Given the description of an element on the screen output the (x, y) to click on. 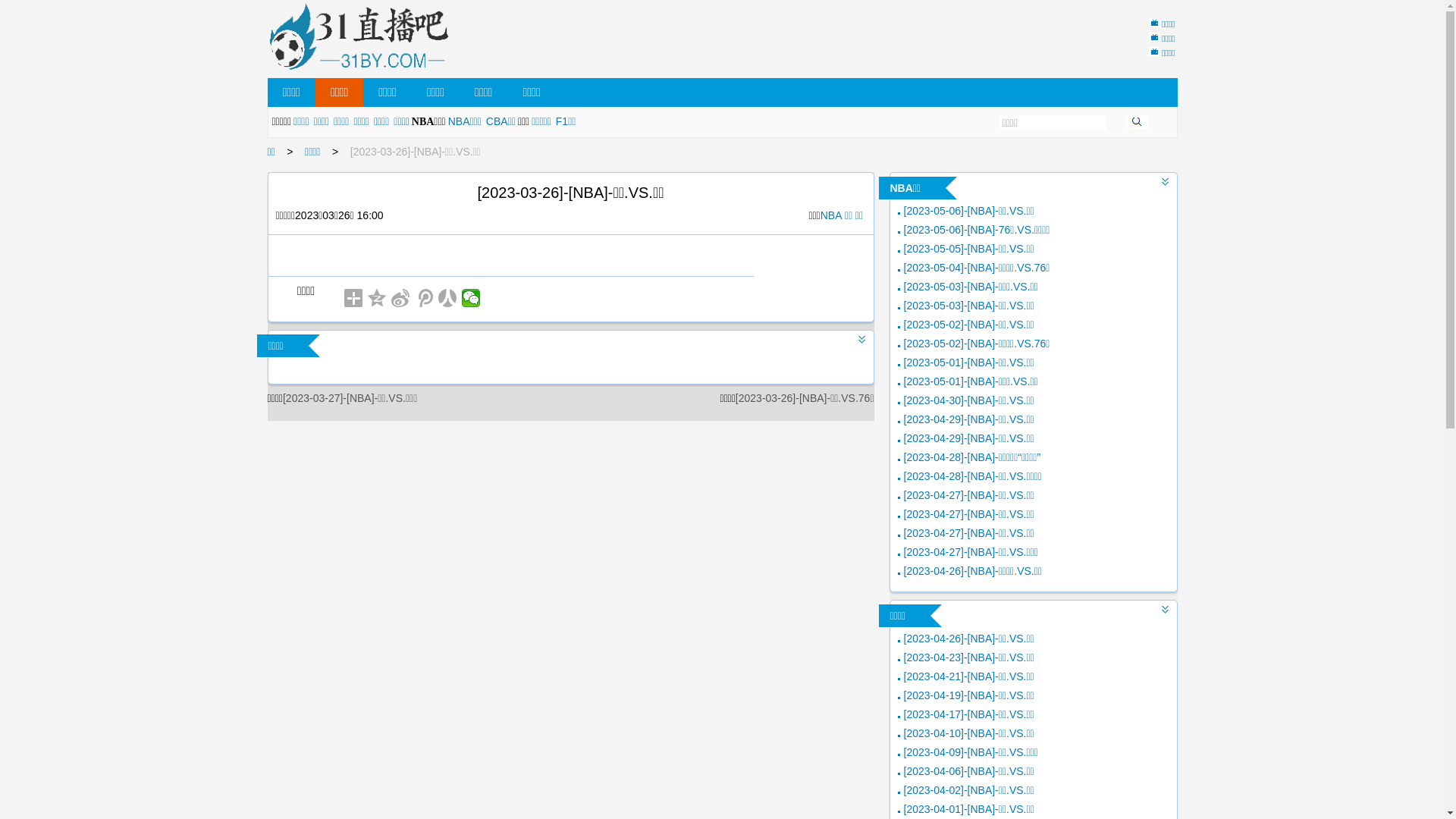
NBA Element type: text (831, 215)
